Given the description of an element on the screen output the (x, y) to click on. 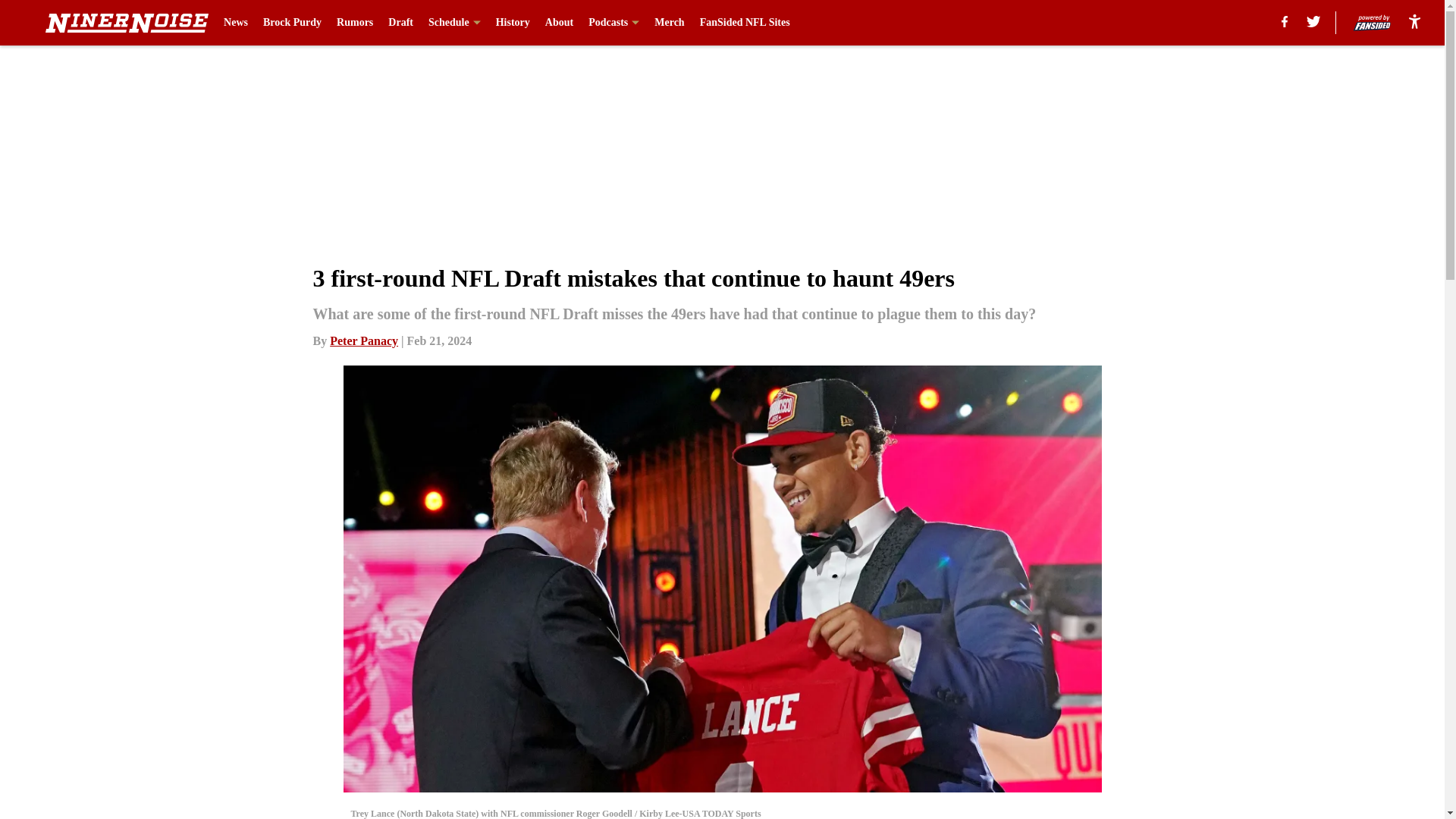
FanSided NFL Sites (745, 22)
About (558, 22)
Merch (668, 22)
Brock Purdy (292, 22)
Draft (400, 22)
Peter Panacy (363, 340)
News (235, 22)
History (512, 22)
Rumors (354, 22)
